Given the description of an element on the screen output the (x, y) to click on. 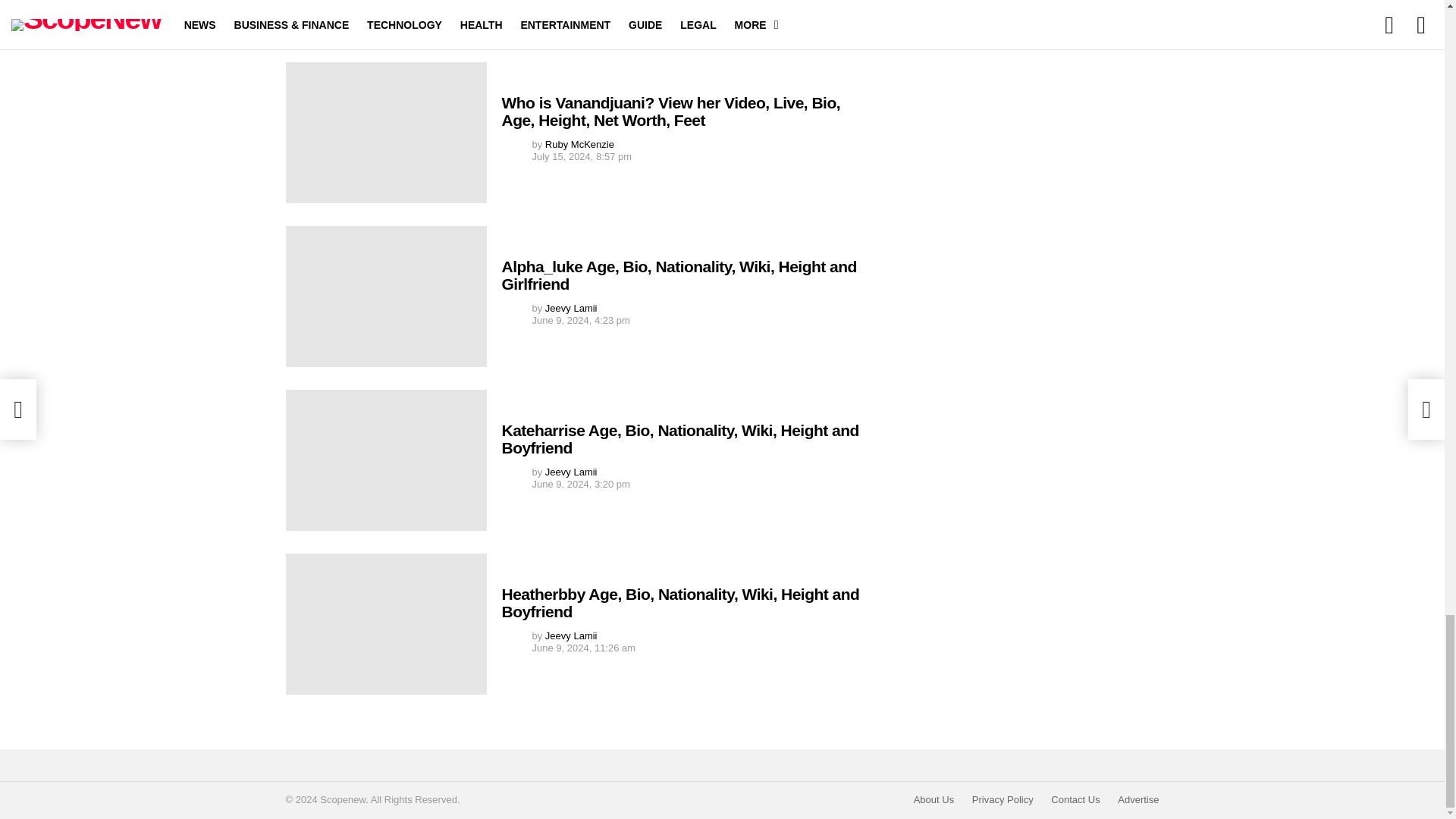
BIOGRAPHY (419, 38)
Ruby McKenzie (579, 143)
Posts by Jeevy Lamii (570, 307)
Heatherbby Age, Bio, Nationality, Wiki, Height and Boyfriend (385, 623)
Posts by Jeevy Lamii (570, 471)
Posts by Ruby McKenzie (579, 143)
Posts by Jeevy Lamii (570, 635)
